Given the description of an element on the screen output the (x, y) to click on. 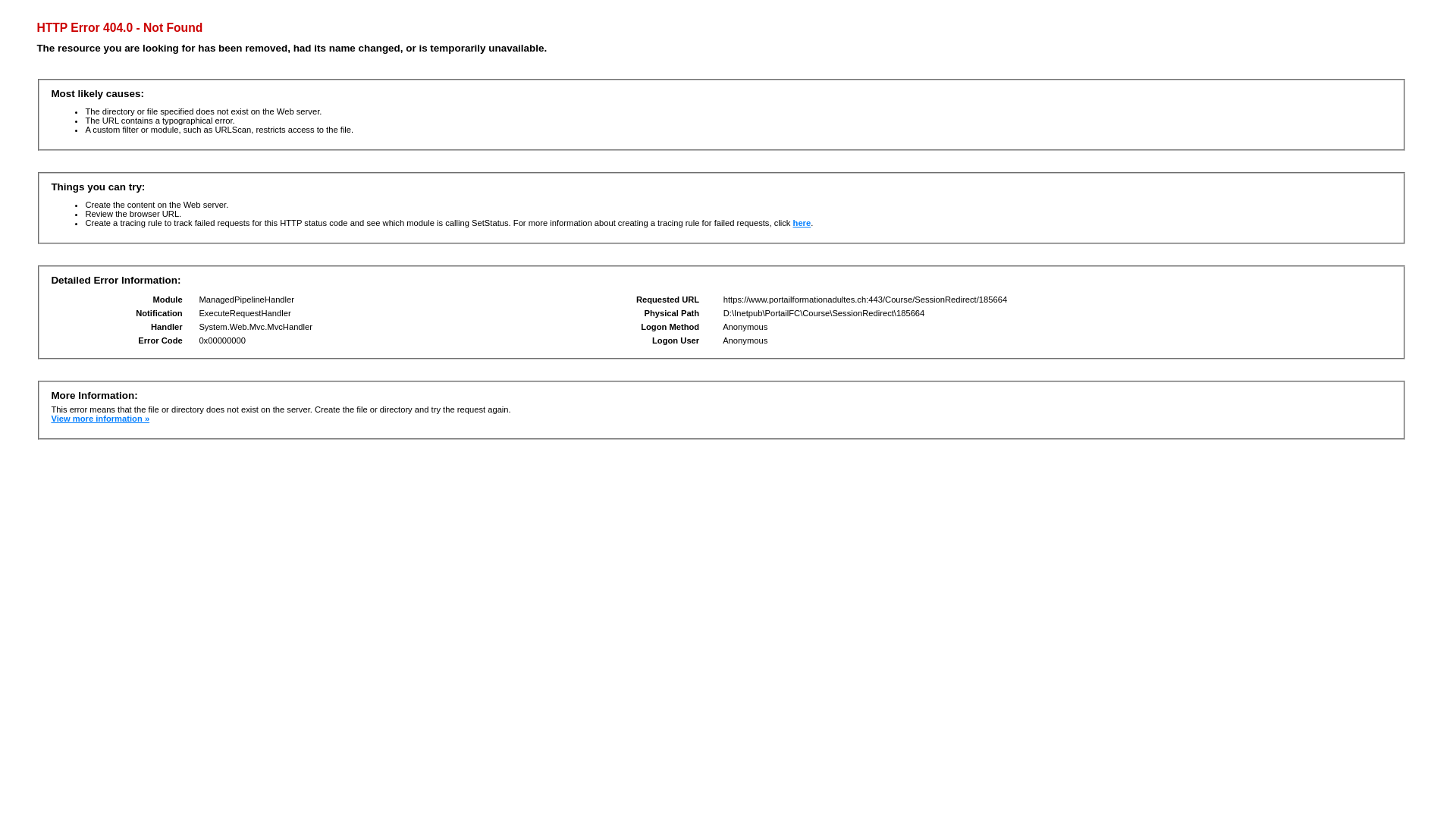
here Element type: text (802, 222)
